Given the description of an element on the screen output the (x, y) to click on. 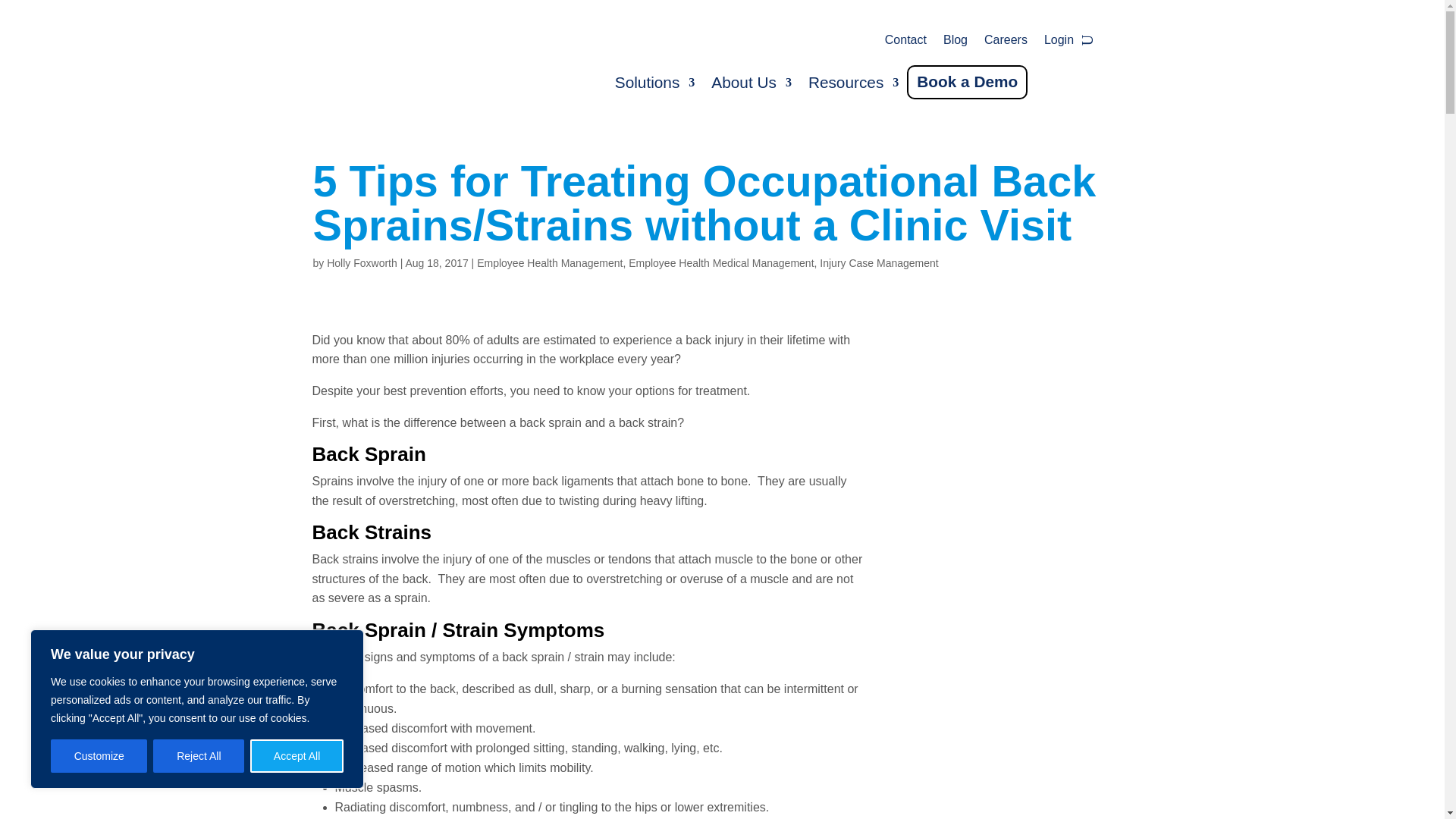
Contact (905, 43)
Login (1058, 43)
Customize (98, 756)
Posts by Holly Foxworth (361, 263)
Reject All (198, 756)
Resources (853, 86)
Careers (1005, 43)
Solutions (654, 86)
About Us (751, 86)
Blog (955, 43)
